Given the description of an element on the screen output the (x, y) to click on. 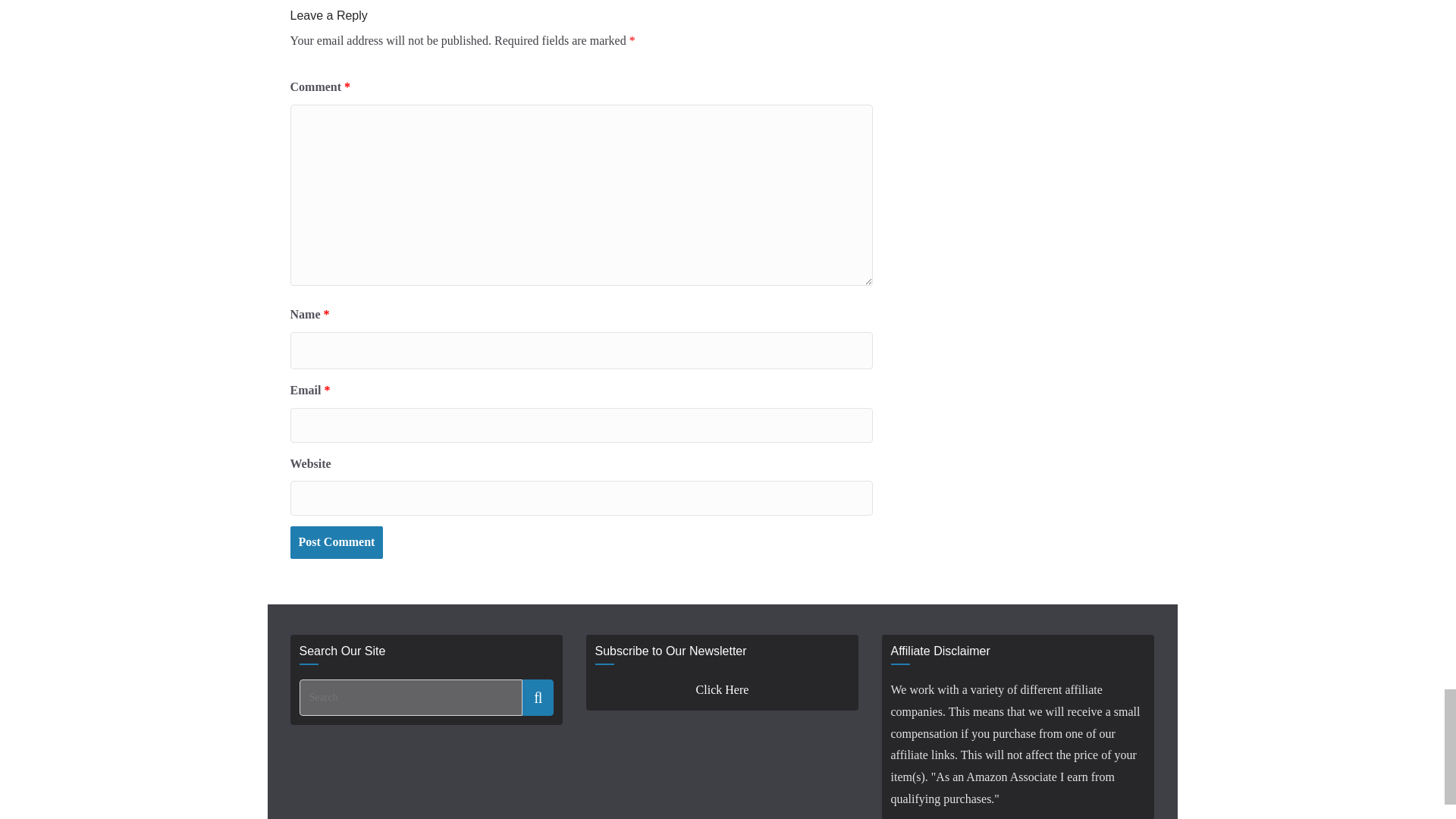
Post Comment (335, 542)
